Given the description of an element on the screen output the (x, y) to click on. 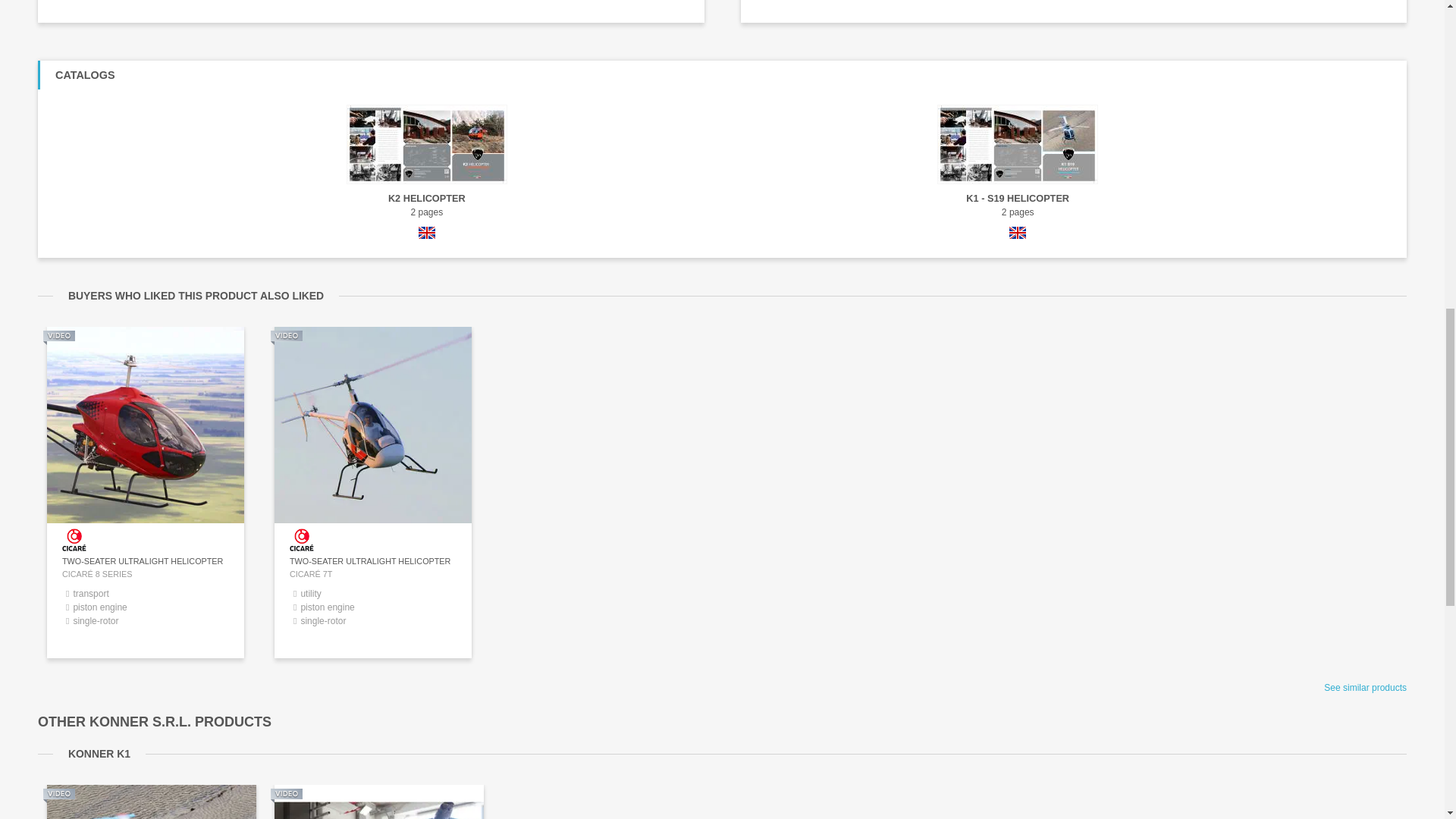
K2 HELICOPTER (426, 198)
See similar products (1364, 687)
K1 - S19 HELICOPTER (1017, 198)
